Given the description of an element on the screen output the (x, y) to click on. 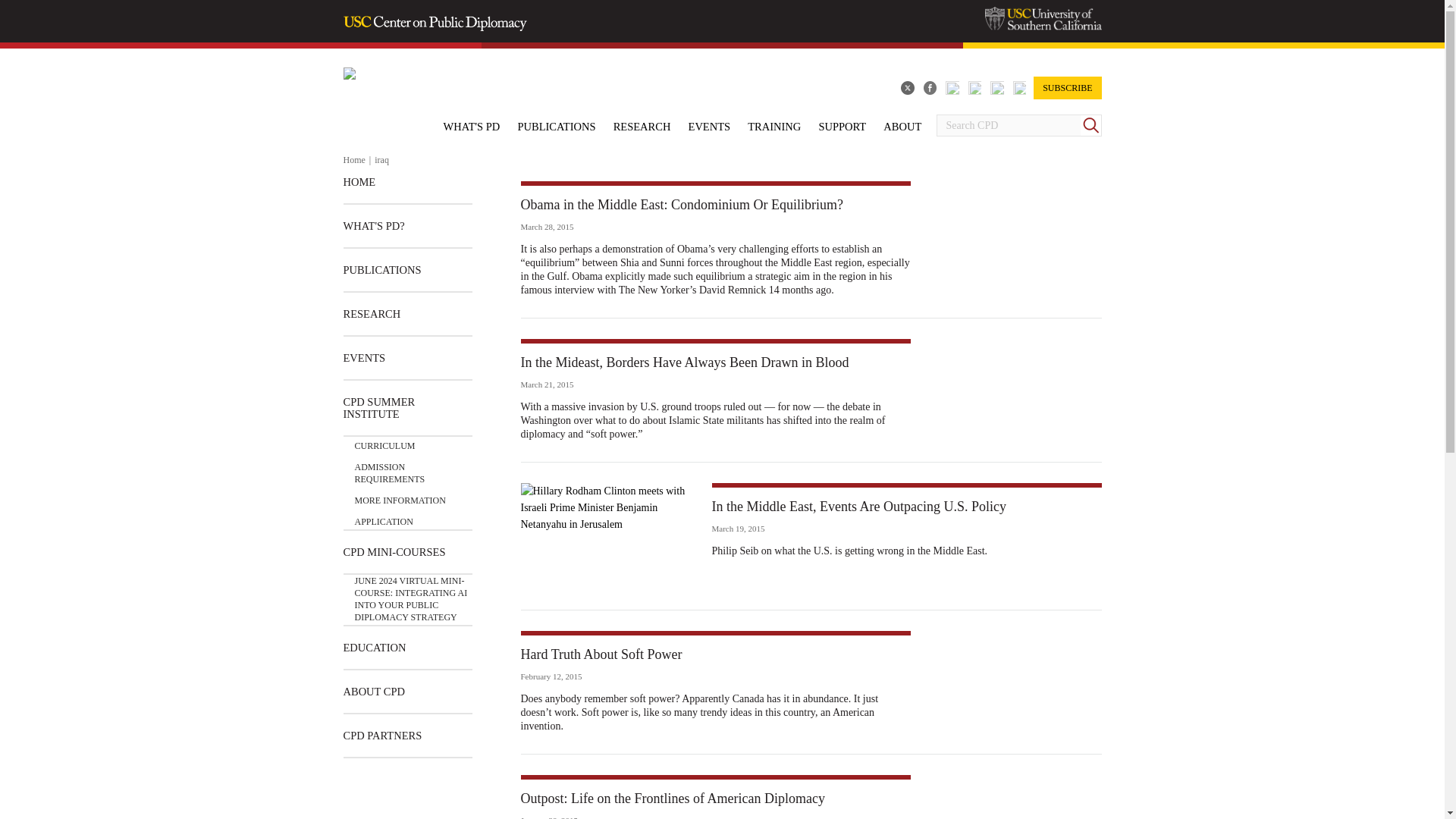
CURRICULUM (384, 445)
CPD MINI-COURSES (393, 551)
Enter the terms you wish to search for. (1008, 125)
APPLICATION (384, 517)
SUPPORT (842, 126)
EDUCATION (374, 647)
CPD SUMMER INSTITUTE (406, 407)
EVENTS (709, 126)
PUBLICATIONS (381, 269)
ADMISSION REQUIREMENTS (413, 469)
WHAT'S PD? (373, 225)
ABOUT (902, 126)
PUBLICATIONS (555, 126)
TRAINING (773, 126)
Home (353, 159)
